Given the description of an element on the screen output the (x, y) to click on. 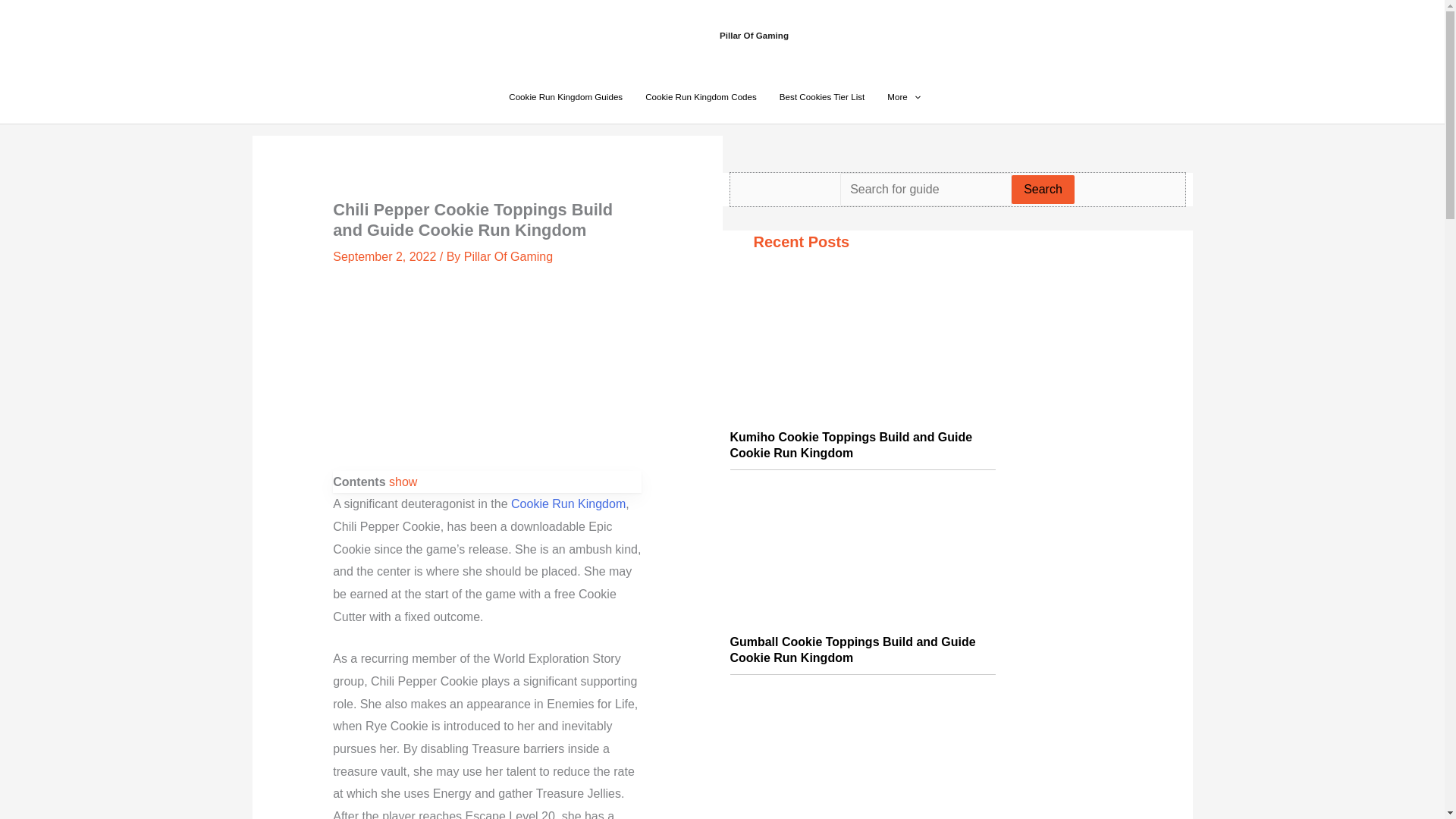
More (903, 97)
Cookie Run Kingdom Guides (565, 97)
Cookie Run Kingdom Codes (700, 97)
Search (1042, 189)
Cookie Run Kingdom (568, 503)
View all posts by Pillar Of Gaming (508, 256)
Pillar Of Gaming (508, 256)
Pillar Of Gaming (754, 35)
Best Cookies Tier List (822, 97)
show (402, 481)
